Given the description of an element on the screen output the (x, y) to click on. 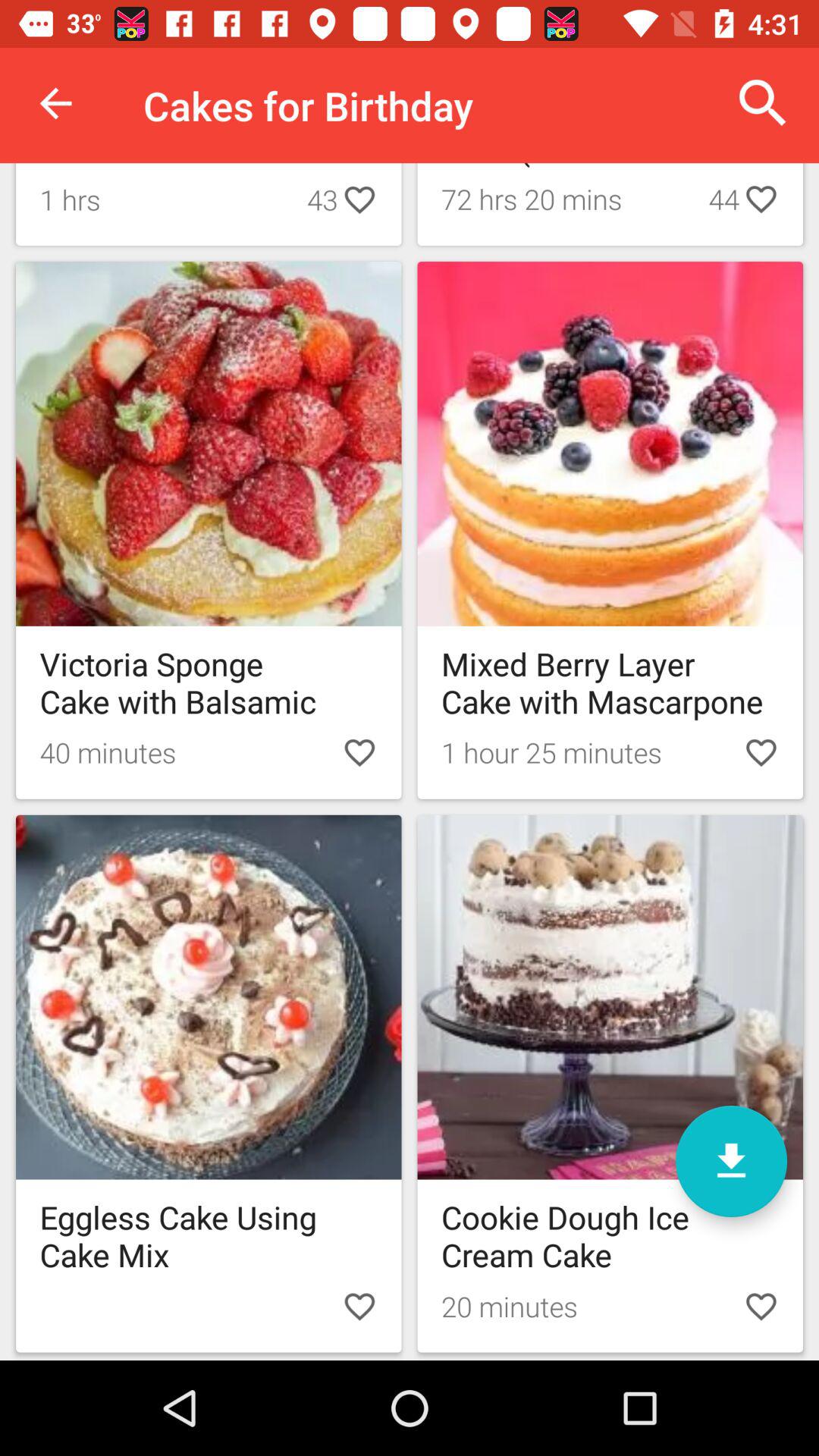
open item next to cakes for birthday item (763, 103)
